Given the description of an element on the screen output the (x, y) to click on. 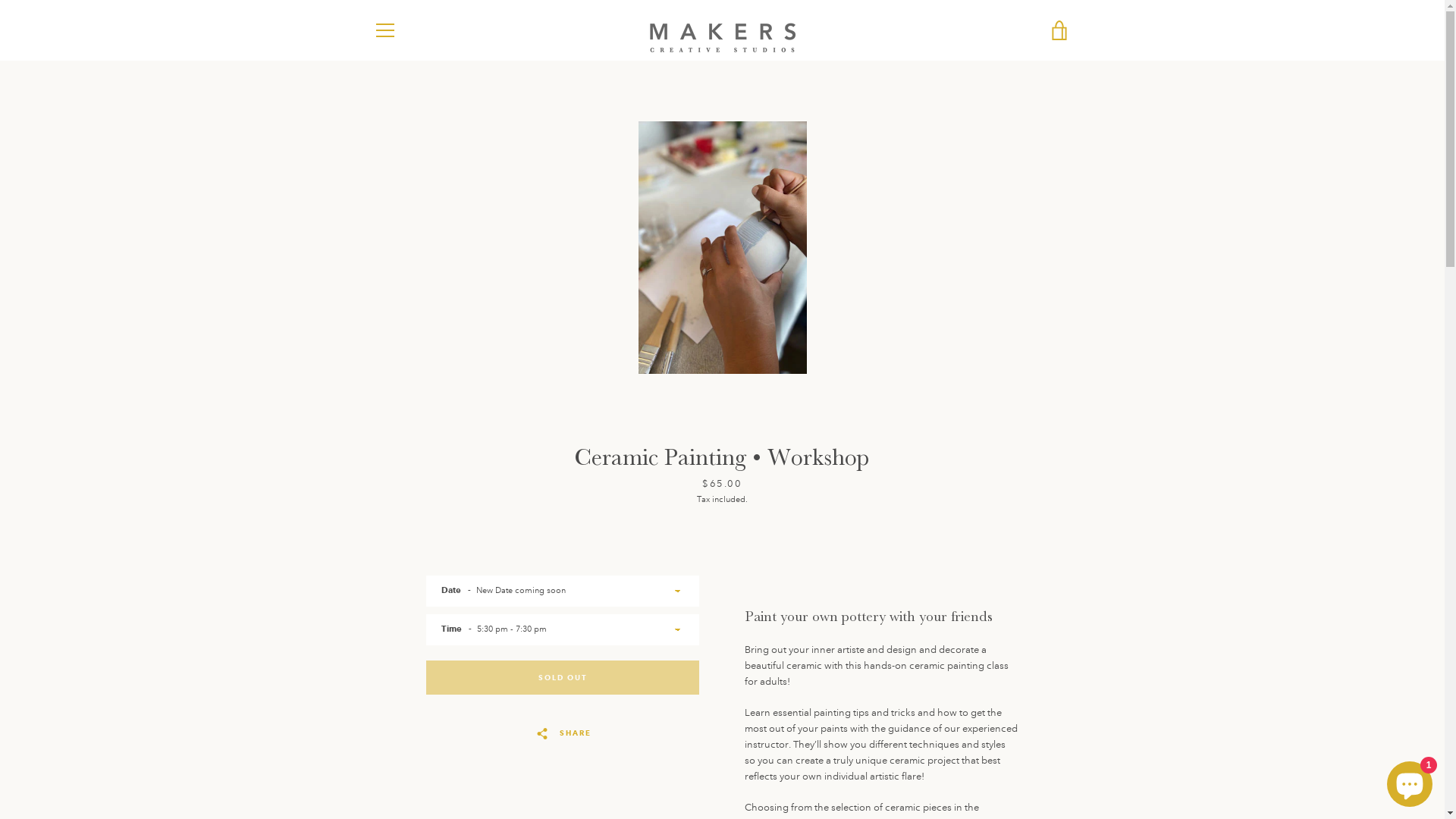
SUBSCRIBE Element type: text (1036, 562)
Skip to content Element type: text (0, 0)
LOCATION Element type: text (395, 582)
SEARCH Element type: text (390, 505)
MEMBERSHIPS Element type: text (403, 621)
Twitter Element type: text (398, 765)
REFUND POLICY Element type: text (407, 698)
POTTERY & CERAMICS STUDIO Element type: text (437, 641)
Shopify online store chat Element type: hover (1409, 780)
MENU Element type: text (384, 30)
Instagram Element type: text (422, 765)
YouTube Element type: text (448, 765)
SHARE Element type: text (562, 732)
GROUP BOOKING ENQUIRY FORM Element type: text (443, 562)
TERMS OF SERVICE Element type: text (414, 679)
CONTACT Element type: text (394, 524)
STUDIO HOURS Element type: text (405, 602)
VIEW CART Element type: text (1059, 30)
Maker's Loft Element type: text (718, 766)
Facebook Element type: text (372, 765)
Powered by Shopify Element type: text (779, 766)
GIFT CARDS Element type: text (398, 544)
CREATIVE KIDS VOUCHER REBATE FORM Element type: text (458, 660)
